Given the description of an element on the screen output the (x, y) to click on. 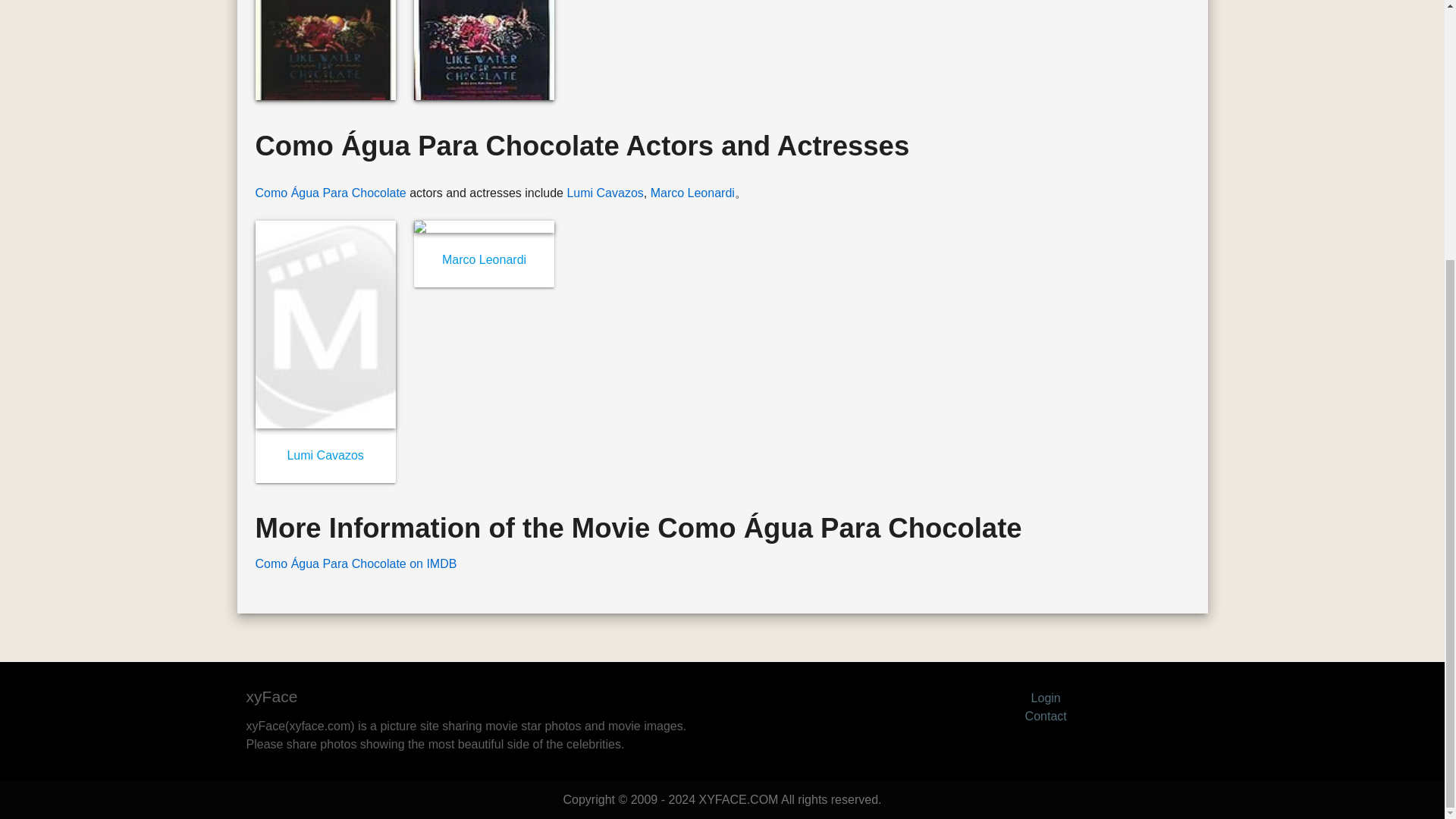
Lumi Cavazos (324, 454)
Contact (1046, 716)
Marco Leonardi (483, 259)
Marco Leonardi (692, 192)
Login (1045, 697)
Lumi Cavazos (604, 192)
